Given the description of an element on the screen output the (x, y) to click on. 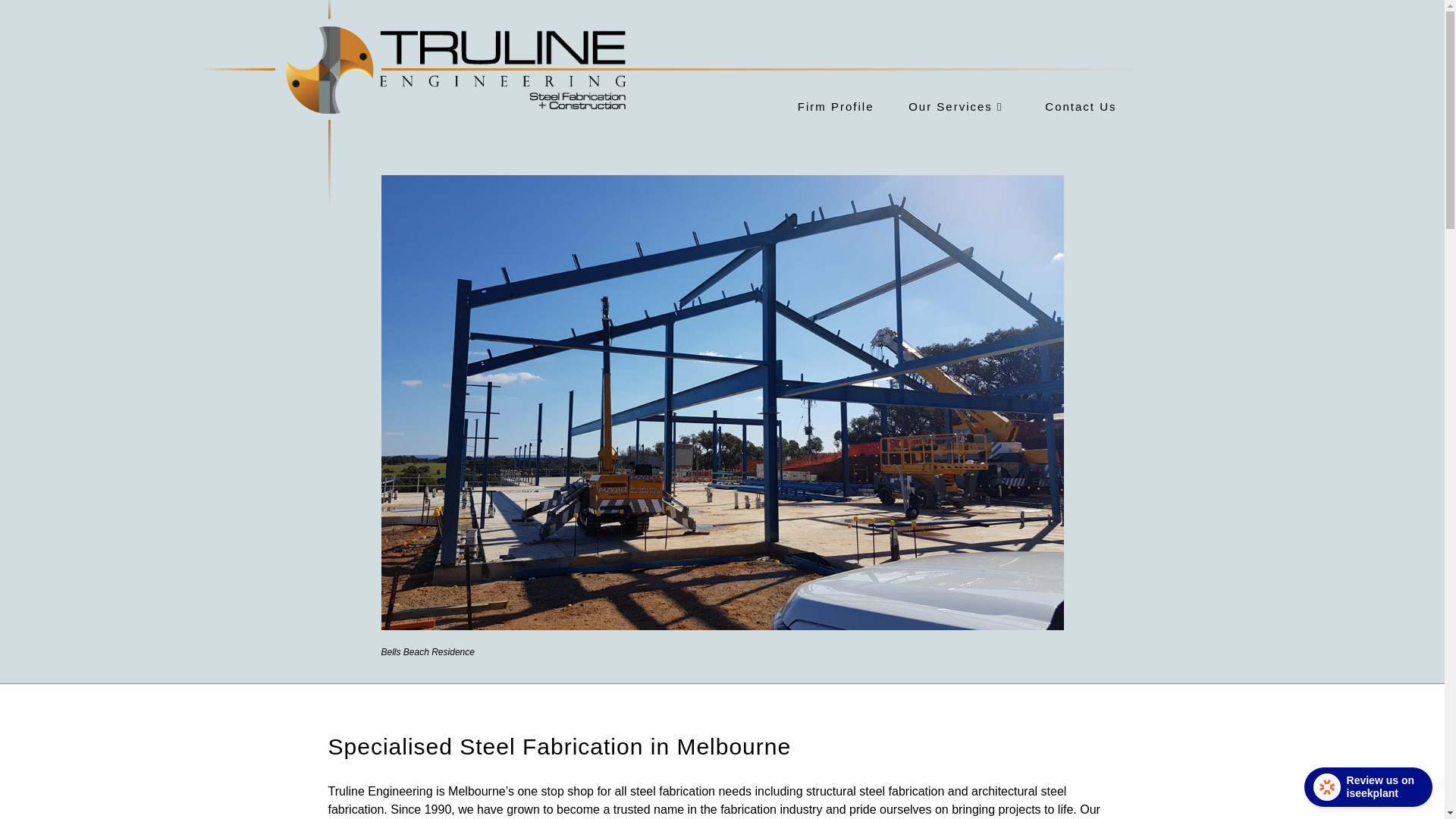
Contact Us Element type: text (1059, 106)
Review us on
iseekplant Element type: text (1368, 786)
Firm Profile Element type: text (816, 106)
